Given the description of an element on the screen output the (x, y) to click on. 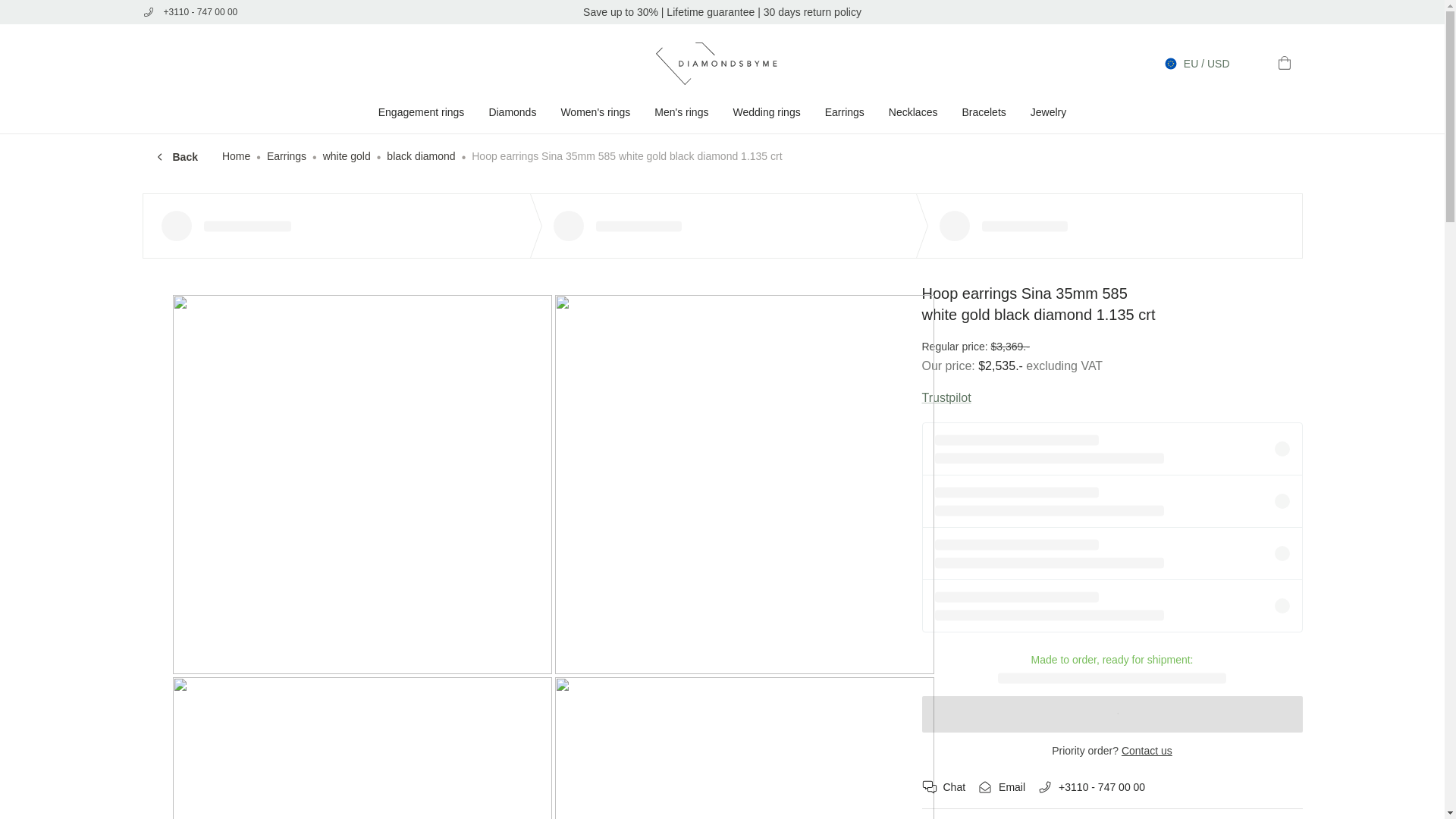
Diamonds By Me (722, 63)
Engagement rings (421, 111)
Engagement rings (421, 111)
Call customer support (253, 12)
